Given the description of an element on the screen output the (x, y) to click on. 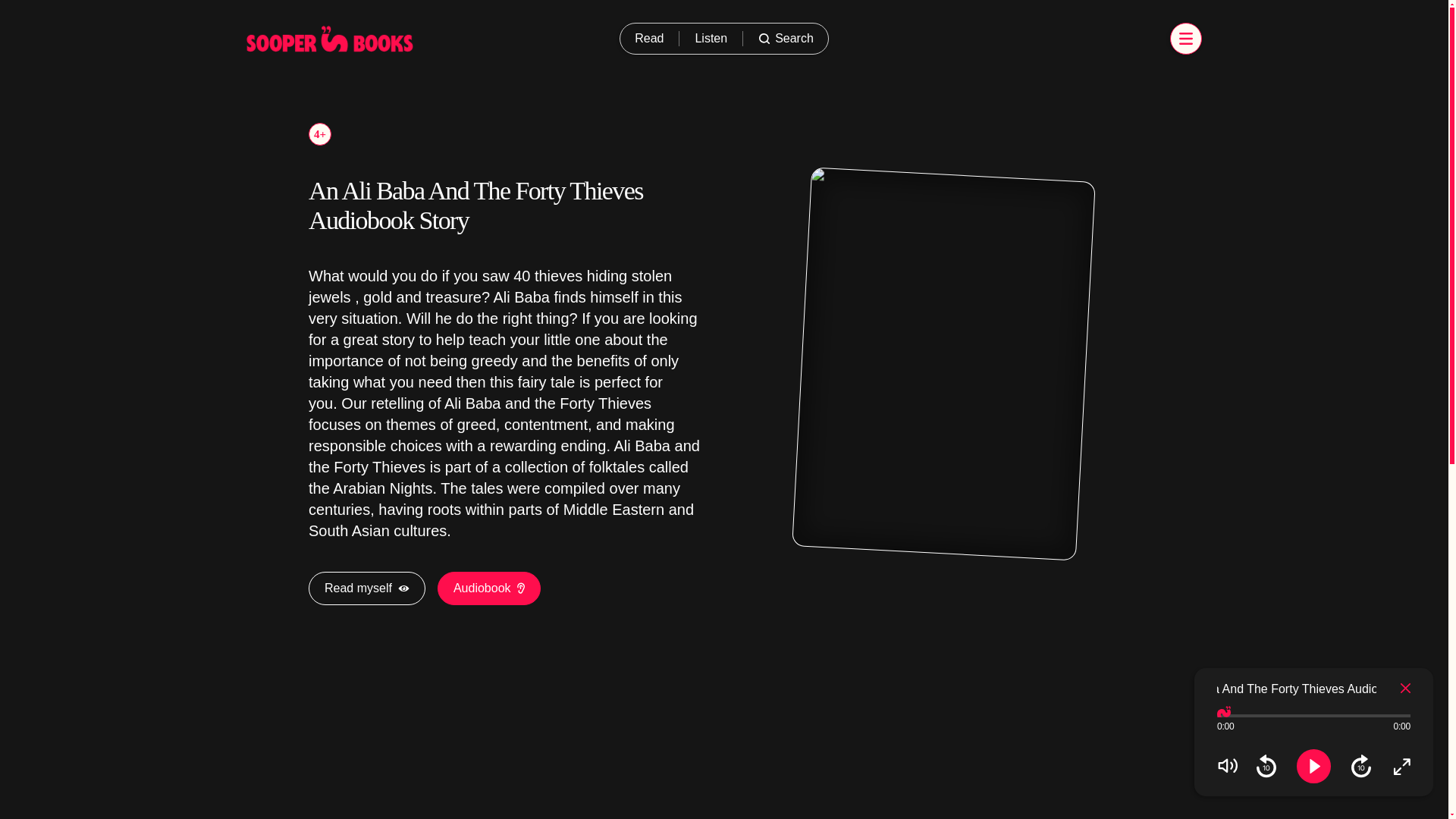
0 (1312, 732)
